Given the description of an element on the screen output the (x, y) to click on. 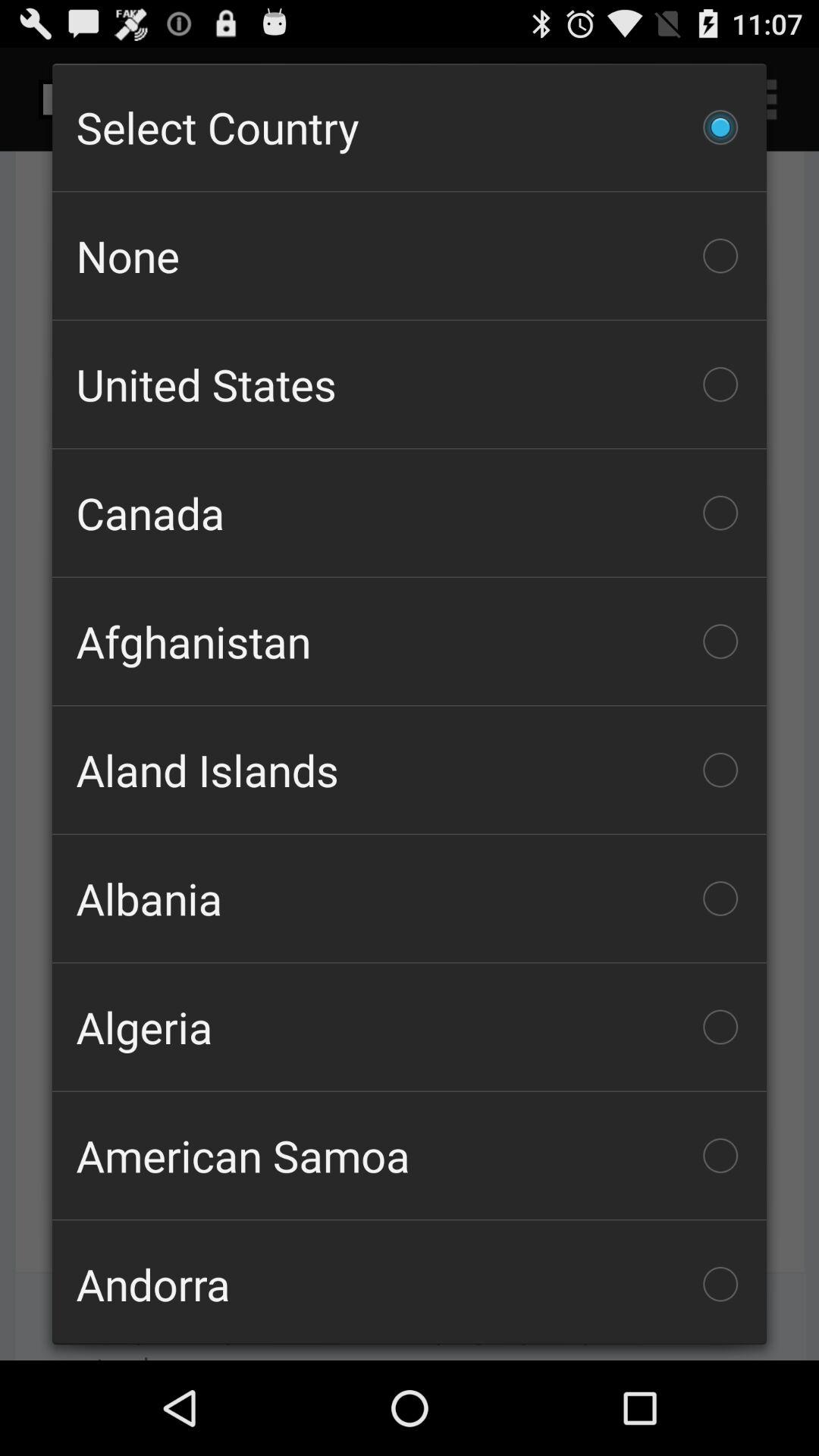
choose the icon below the canada (409, 641)
